Given the description of an element on the screen output the (x, y) to click on. 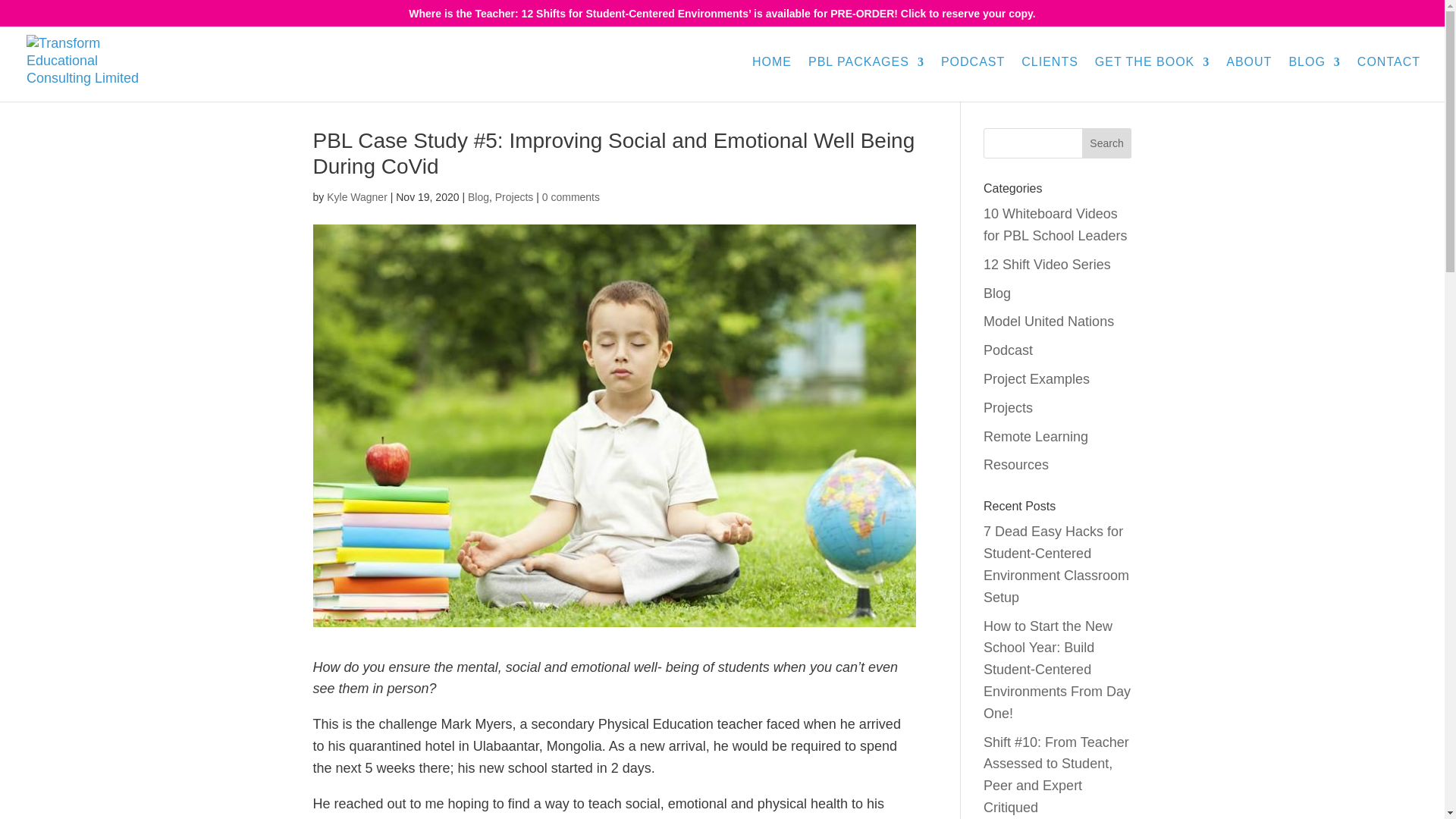
12 Shift Video Series (1047, 264)
PBL PACKAGES (866, 78)
Search (1106, 142)
Posts by Kyle Wagner (356, 196)
PODCAST (972, 78)
Blog (478, 196)
Podcast (1008, 350)
10 Whiteboard Videos for PBL School Leaders (1055, 224)
Project Examples (1036, 378)
